Given the description of an element on the screen output the (x, y) to click on. 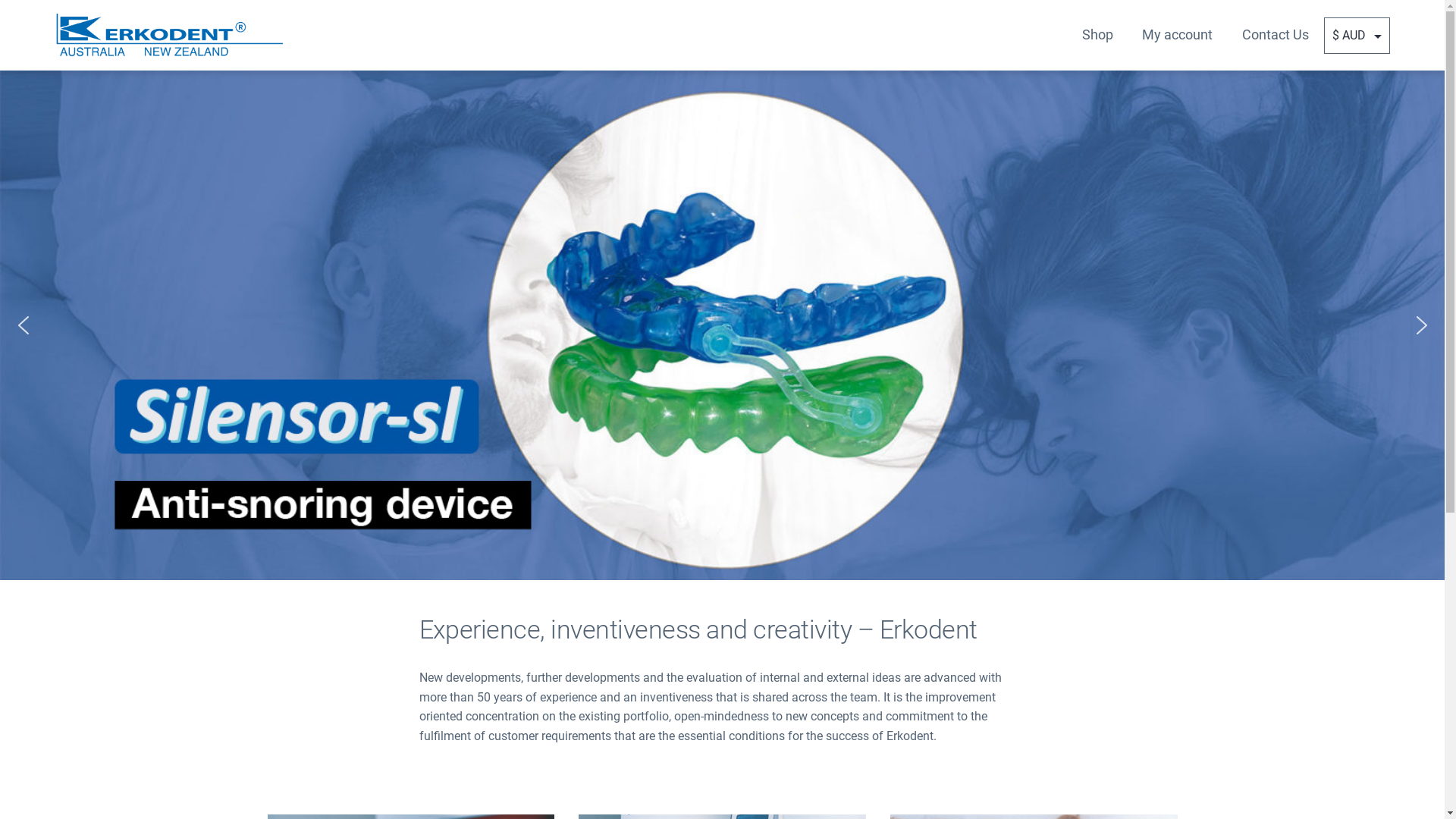
My account Element type: text (1177, 35)
Shop Element type: text (1097, 35)
Contact Us Element type: text (1274, 35)
